Given the description of an element on the screen output the (x, y) to click on. 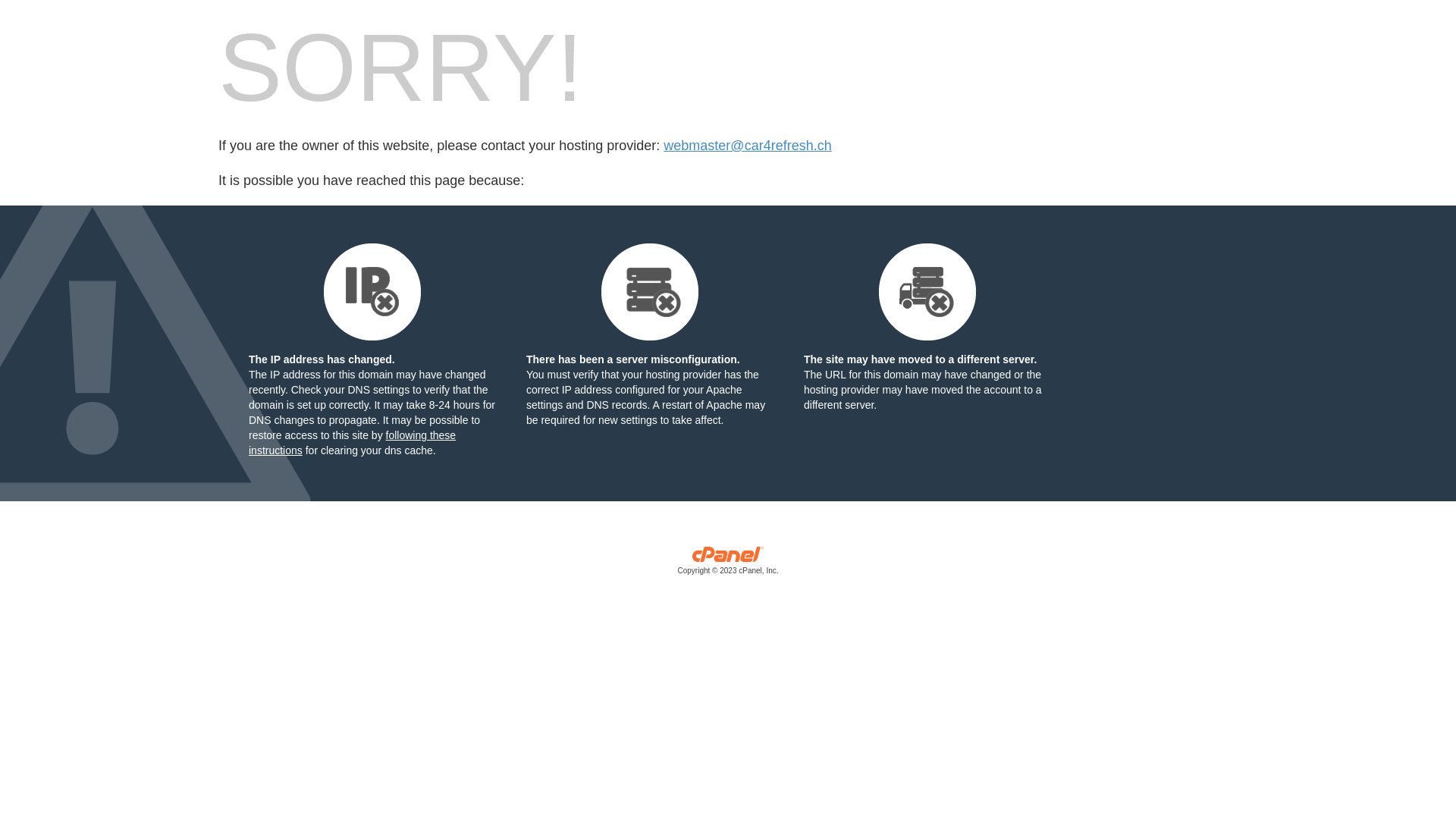
following these instructions Element type: text (351, 442)
webmaster@car4refresh.ch Element type: text (747, 145)
